Given the description of an element on the screen output the (x, y) to click on. 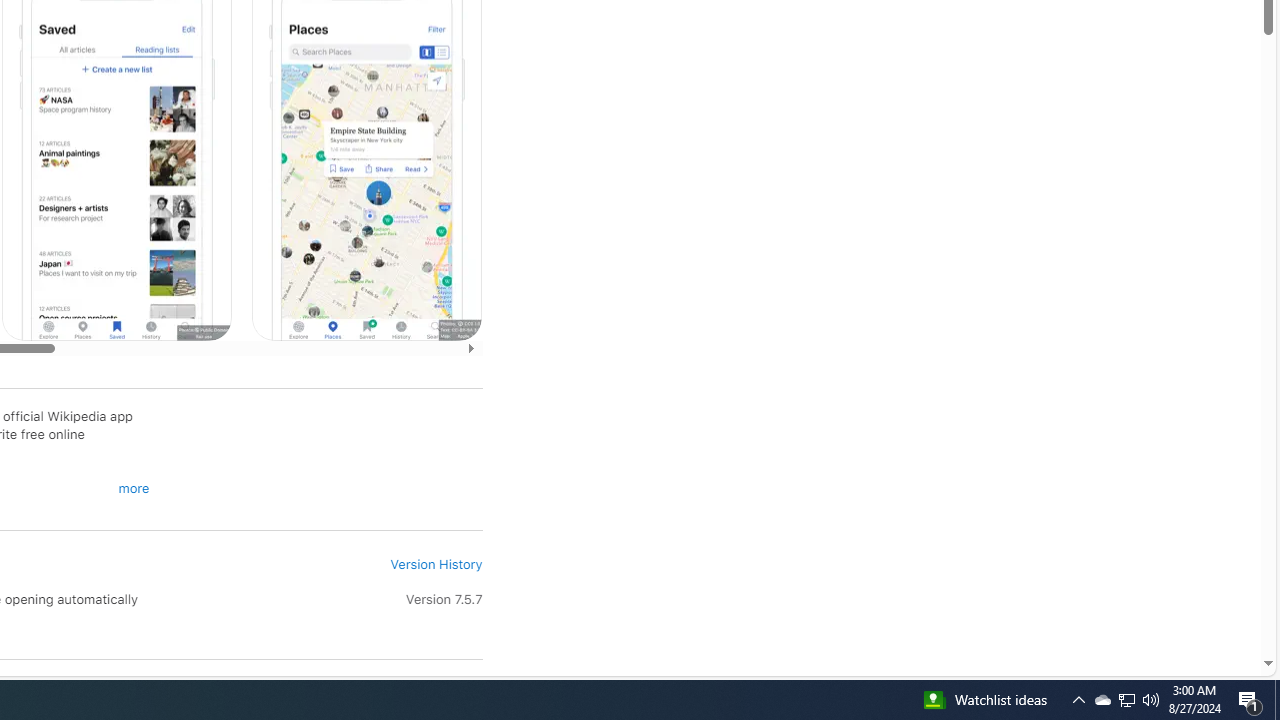
Version History (436, 564)
